Given the description of an element on the screen output the (x, y) to click on. 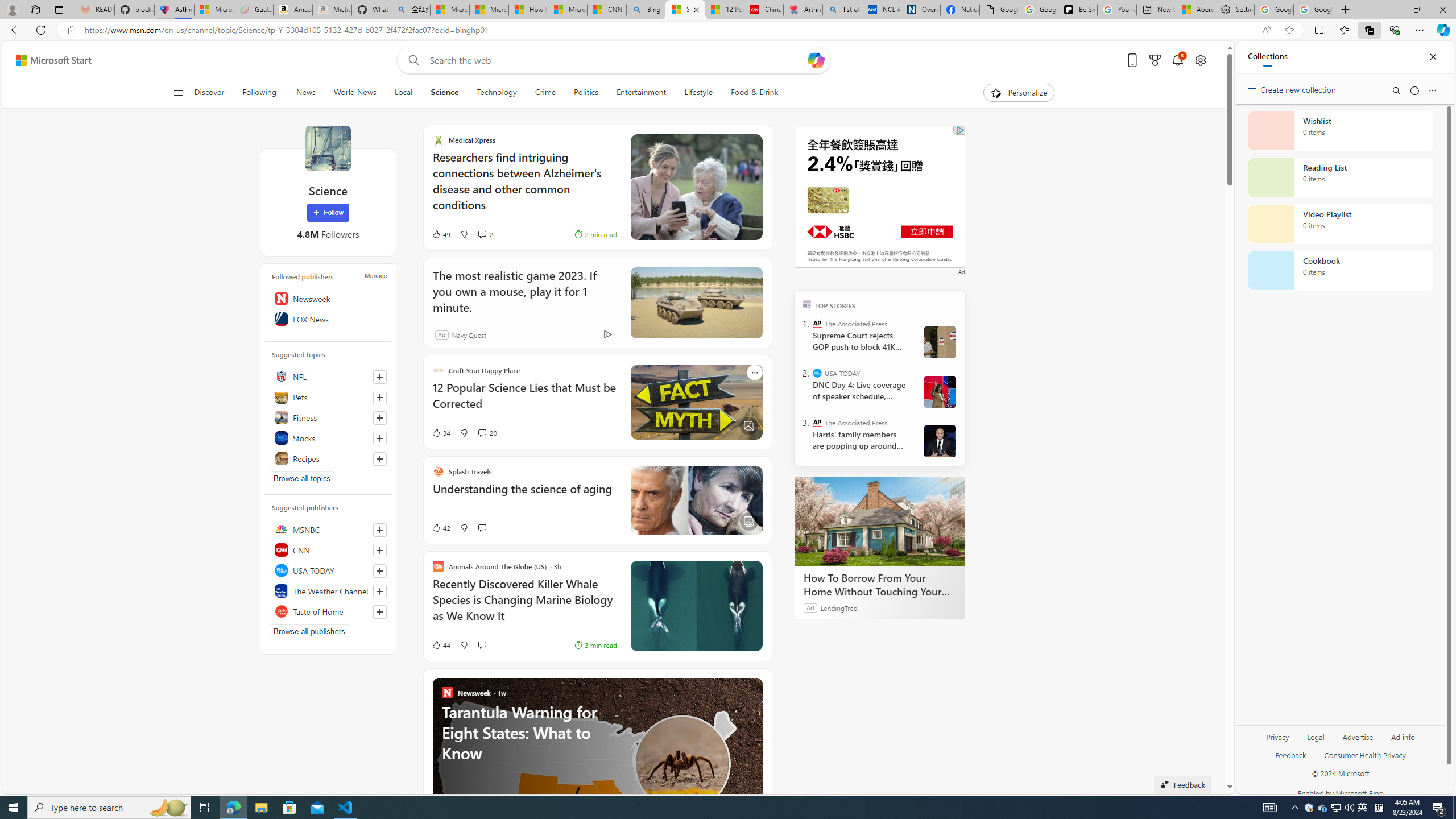
USA TODAY (327, 570)
LendingTree (838, 607)
Food & Drink (750, 92)
Open navigation menu (177, 92)
Browse all topics (301, 477)
Stocks (327, 437)
Ad info (1402, 741)
Reading List collection, 0 items (1339, 177)
